Given the description of an element on the screen output the (x, y) to click on. 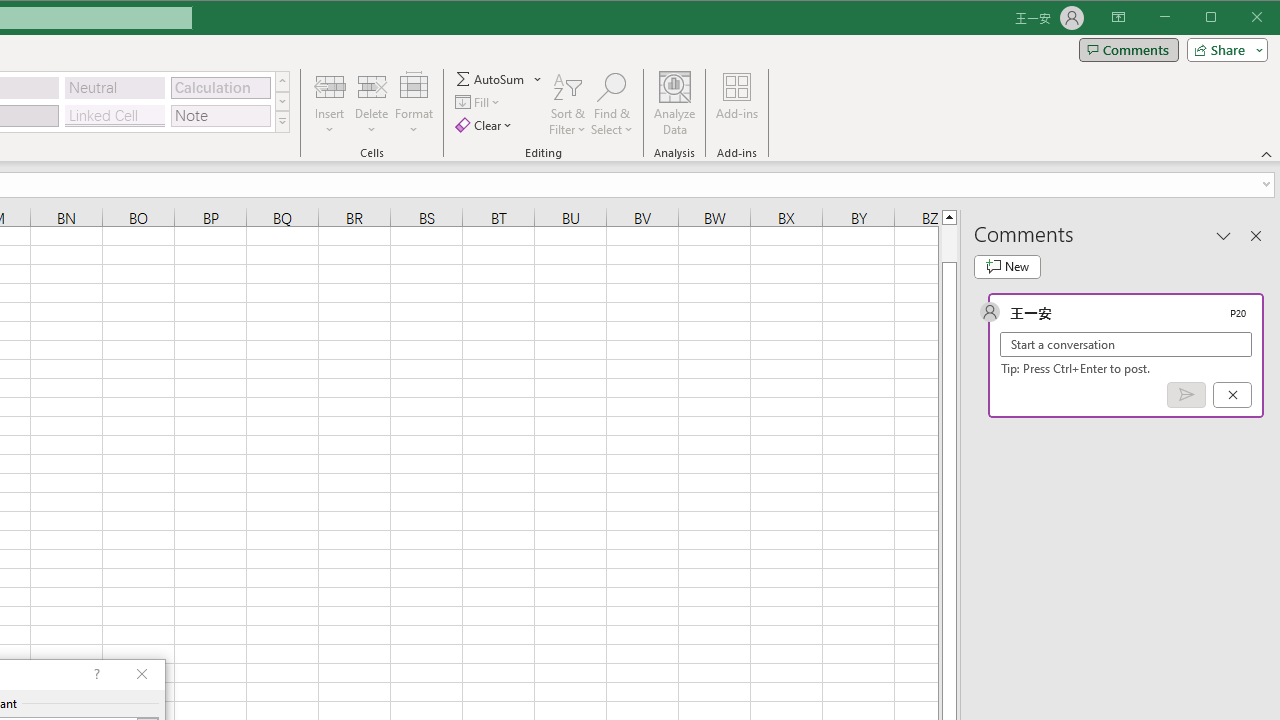
Cancel (1232, 395)
New comment (1007, 266)
Page up (948, 243)
Start a conversation (1126, 344)
Fill (478, 101)
Insert Cells (329, 86)
